Given the description of an element on the screen output the (x, y) to click on. 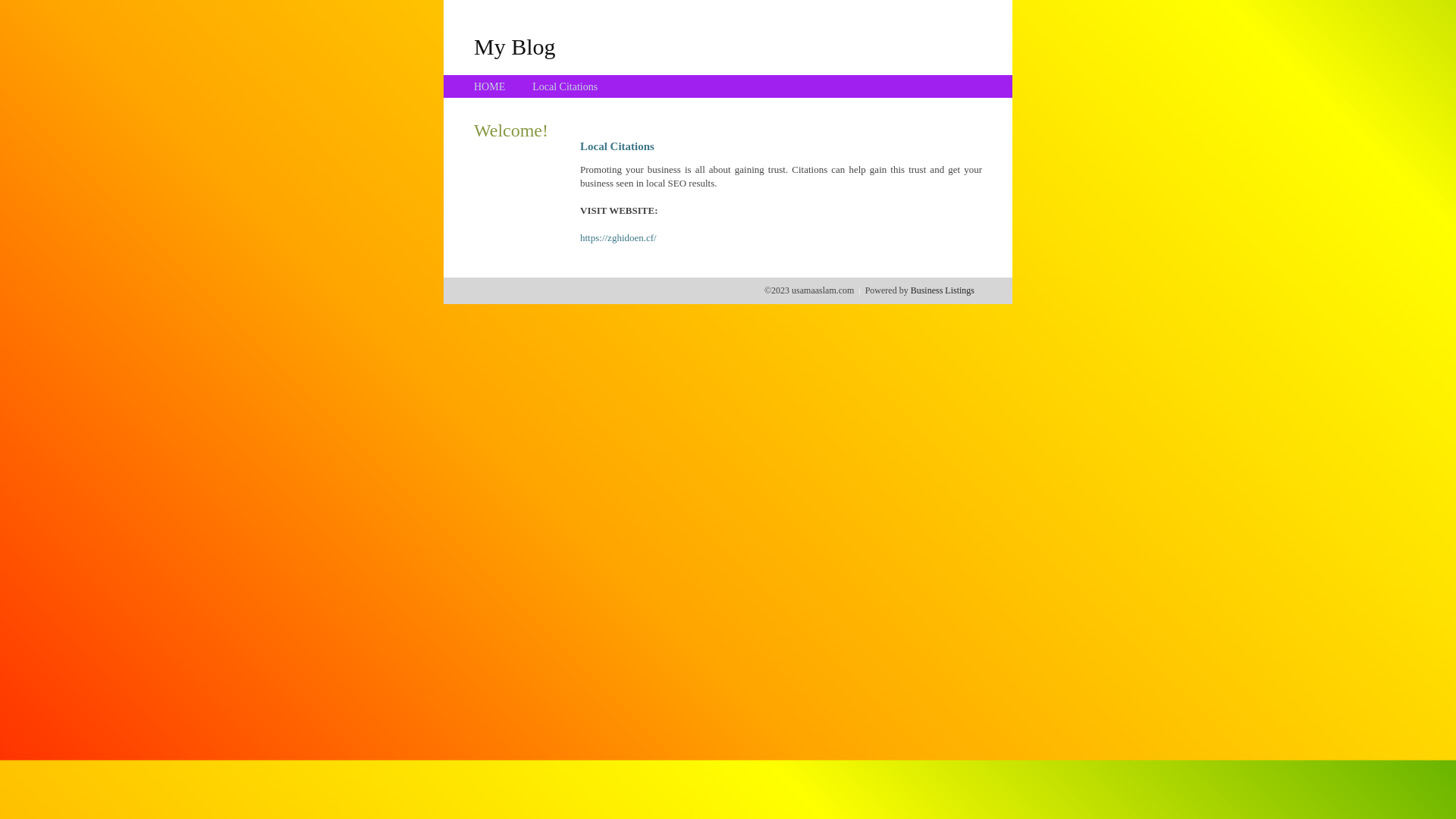
HOME Element type: text (489, 86)
My Blog Element type: text (514, 46)
Business Listings Element type: text (942, 290)
Local Citations Element type: text (564, 86)
https://zghidoen.cf/ Element type: text (618, 237)
